Given the description of an element on the screen output the (x, y) to click on. 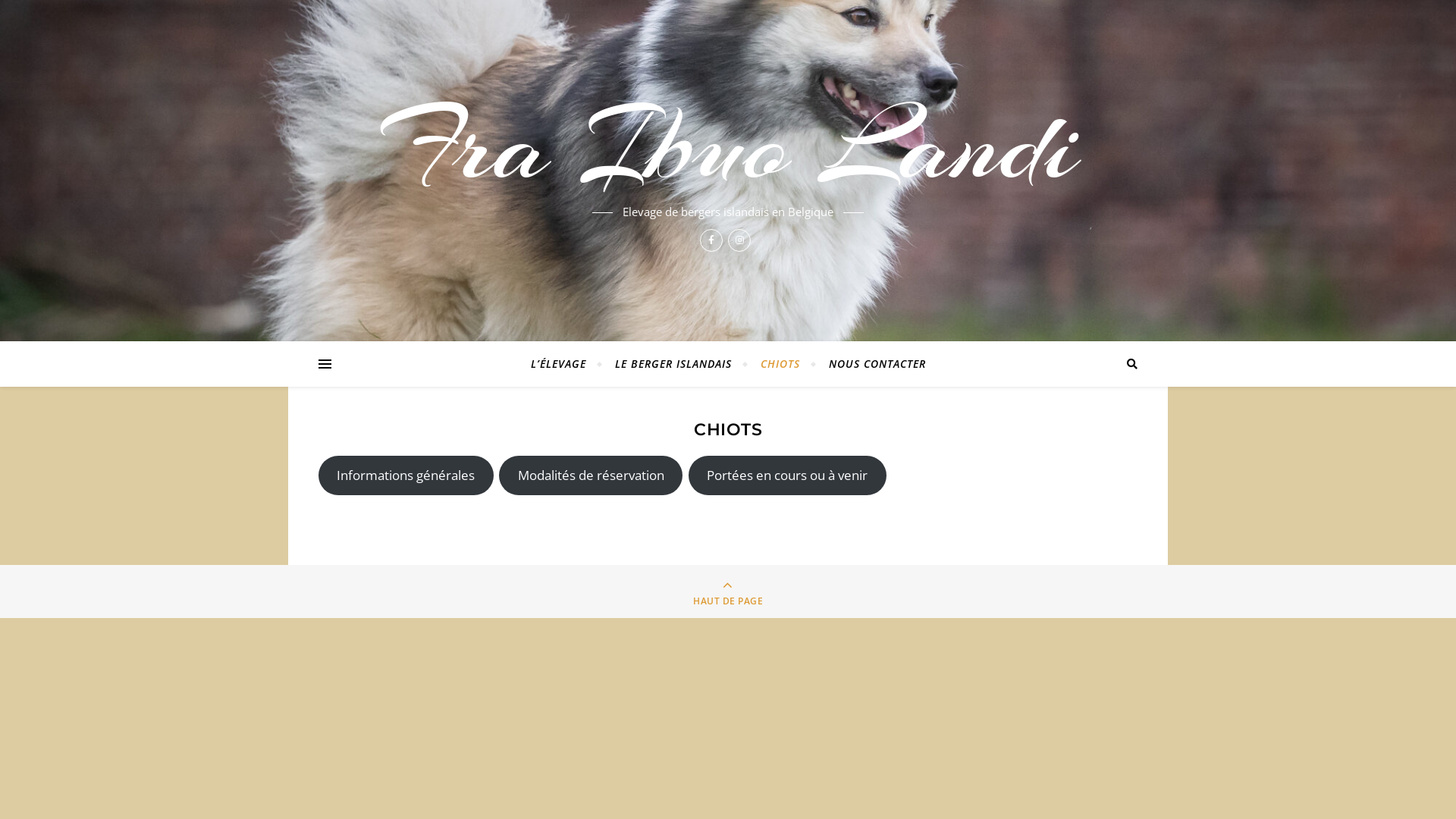
LE BERGER ISLANDAIS Element type: text (673, 363)
NOUS CONTACTER Element type: text (870, 363)
CHIOTS Element type: text (779, 363)
